Given the description of an element on the screen output the (x, y) to click on. 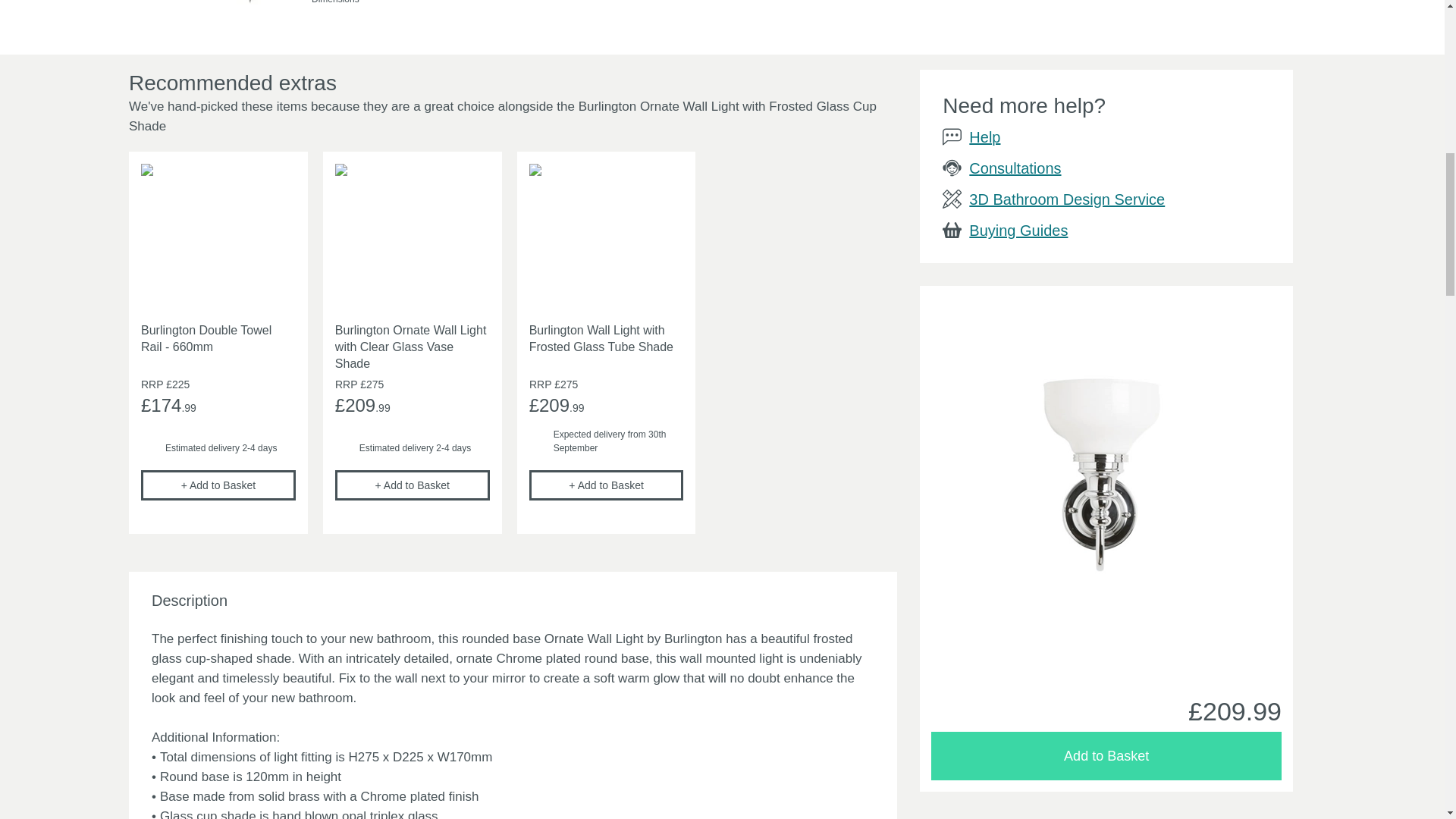
Recommended Retail Price (540, 384)
Recommended Retail Price (345, 384)
Recommended Retail Price (152, 384)
